Given the description of an element on the screen output the (x, y) to click on. 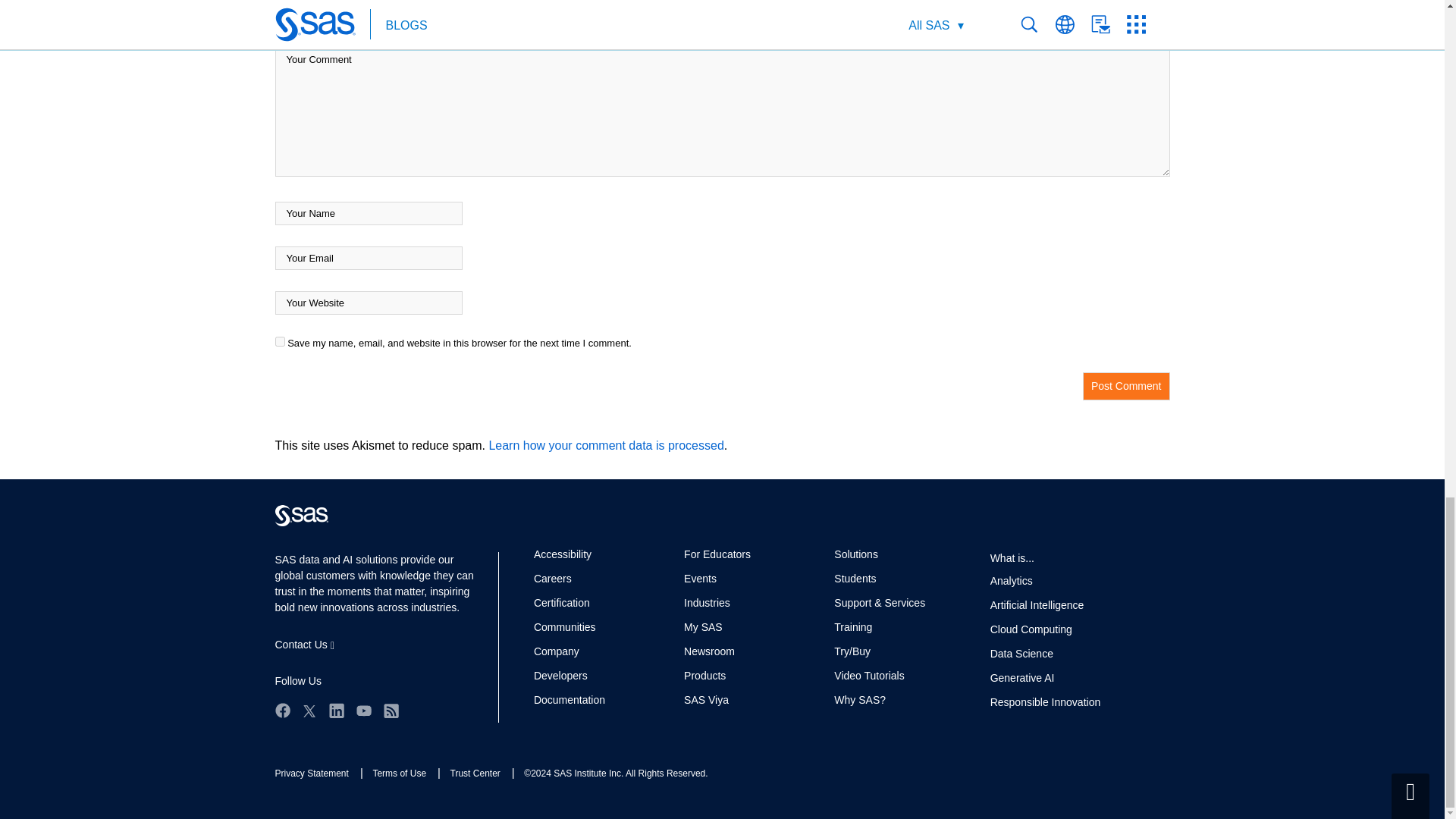
yes (279, 341)
Web (301, 515)
Post Comment (1126, 386)
